Given the description of an element on the screen output the (x, y) to click on. 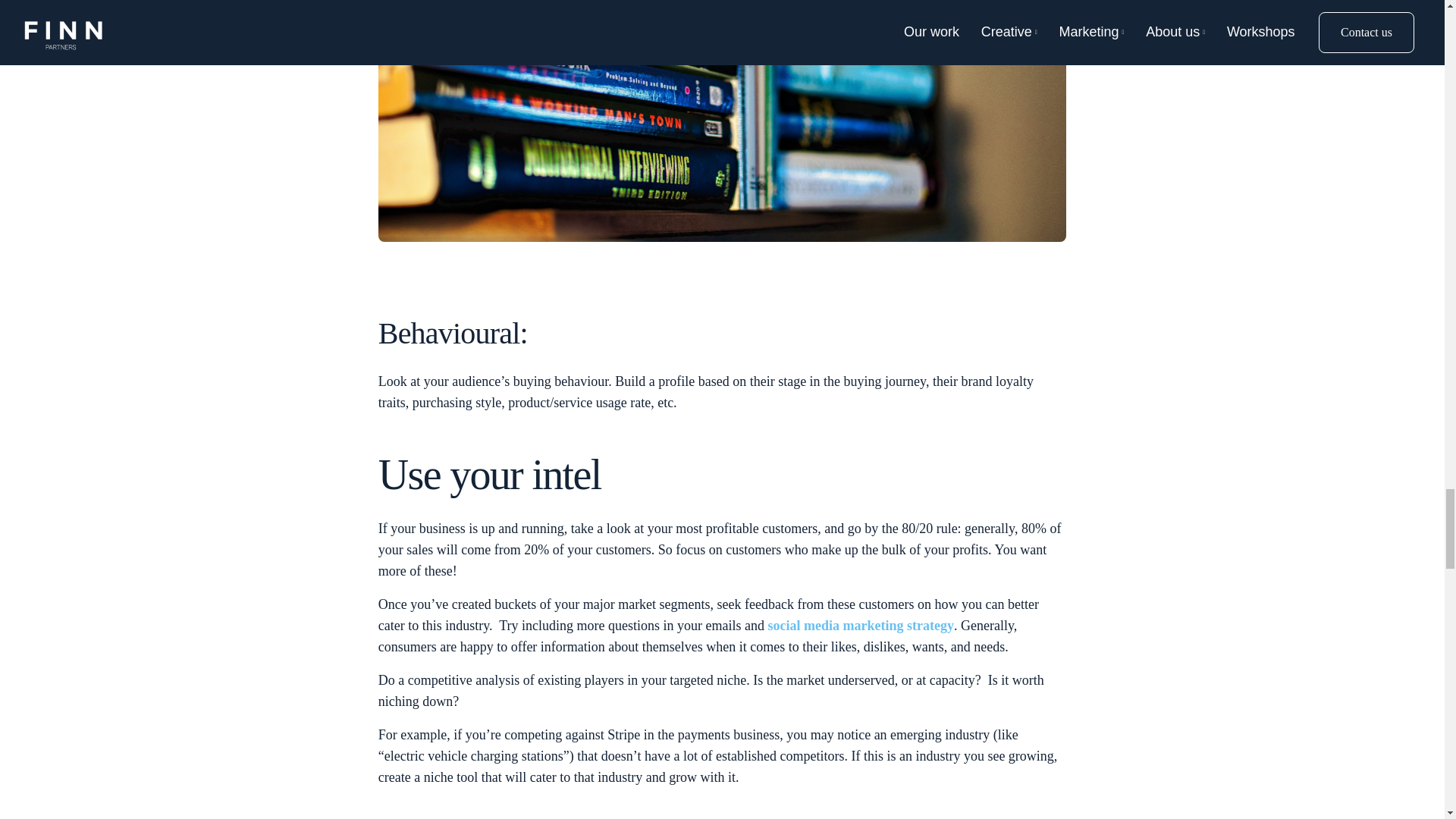
social media marketing strategy (860, 625)
